Given the description of an element on the screen output the (x, y) to click on. 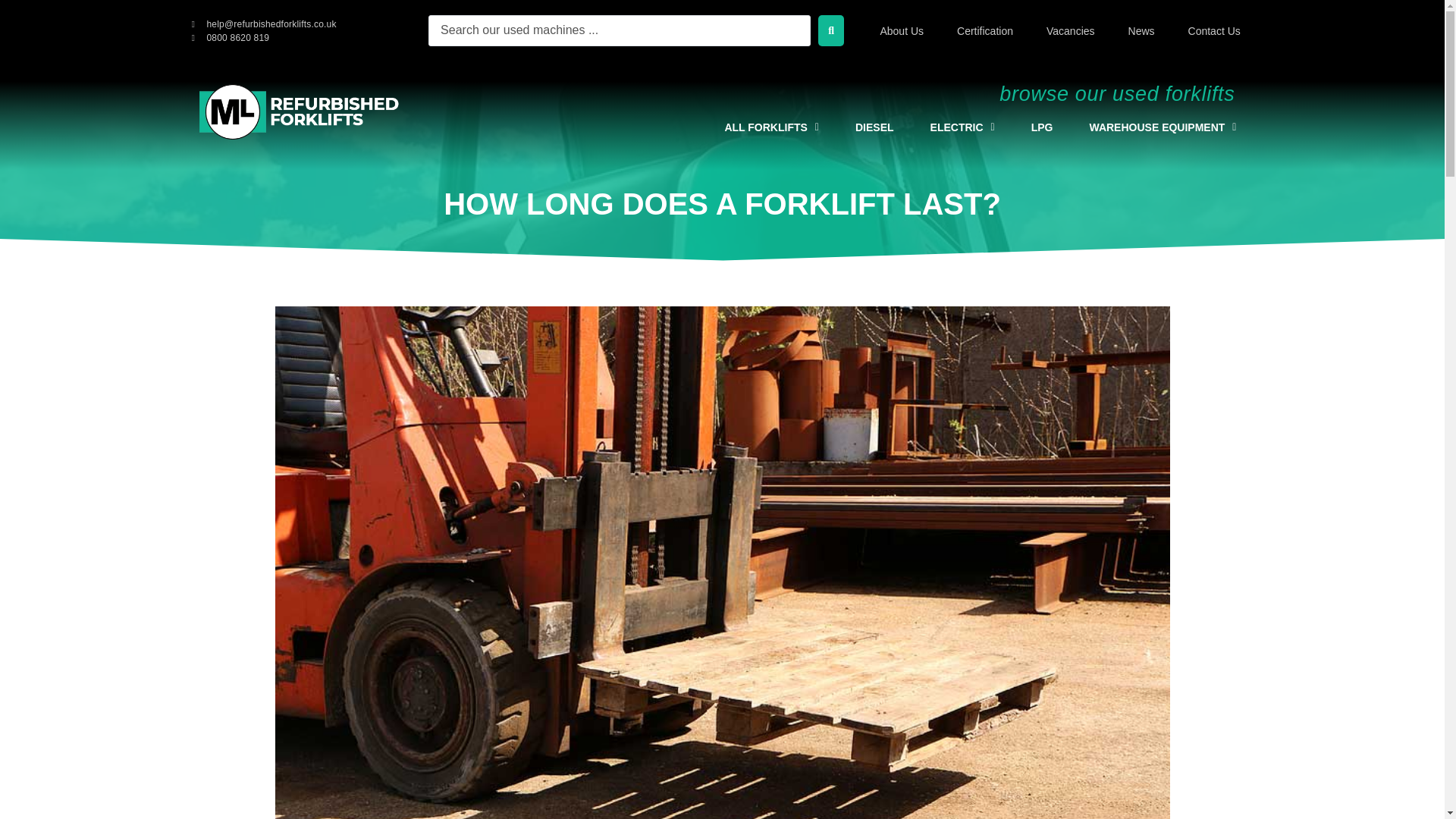
Certification (984, 29)
ELECTRIC (962, 126)
ALL FORKLIFTS (771, 126)
News (1141, 29)
LPG (1042, 126)
About Us (901, 29)
0800 8620 819 (229, 37)
Contact Us (1214, 29)
DIESEL (874, 126)
WAREHOUSE EQUIPMENT (1161, 126)
